Given the description of an element on the screen output the (x, y) to click on. 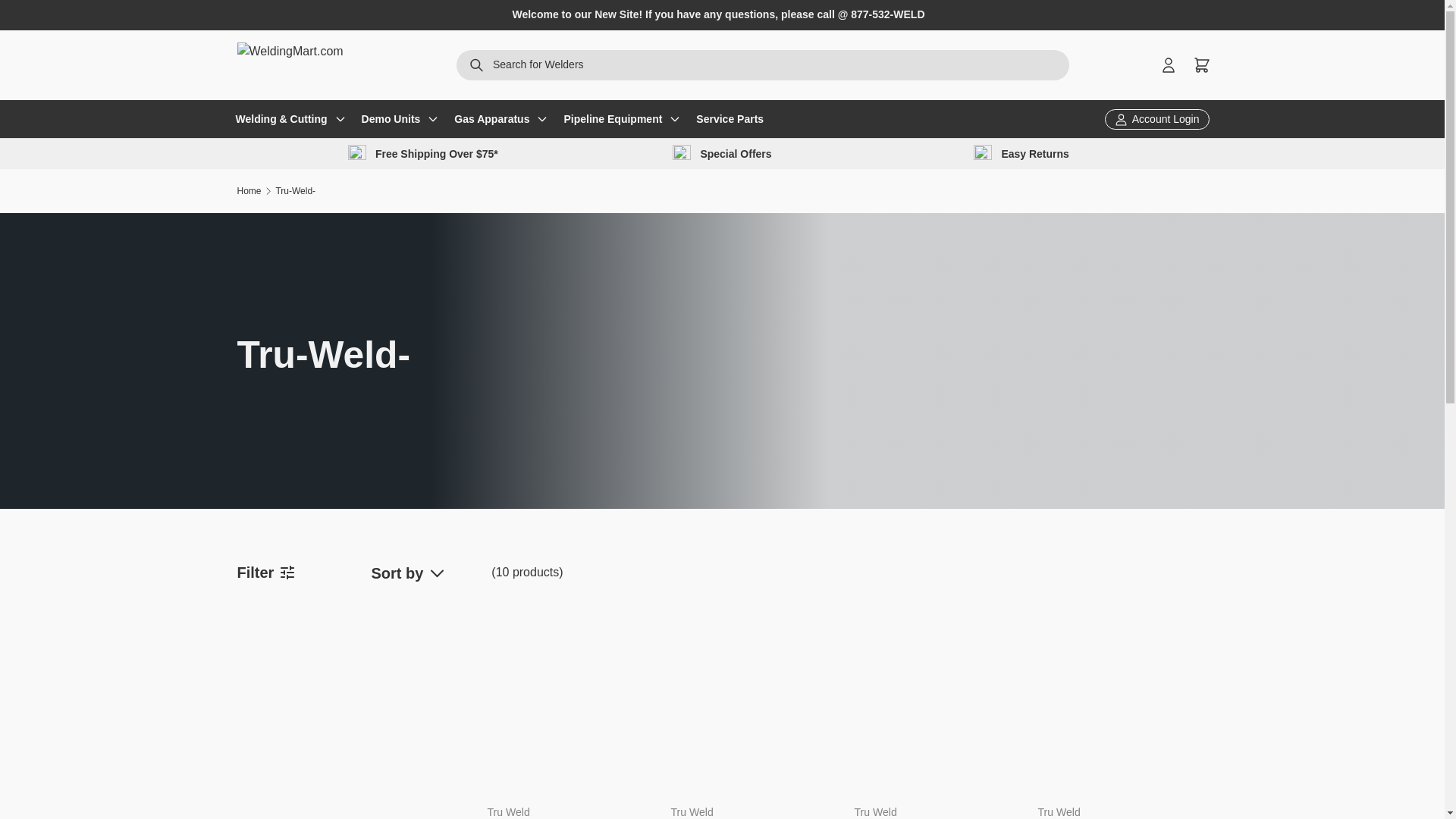
Skip to content (69, 21)
Cart (1201, 64)
Search (476, 66)
Log in (1167, 64)
